Given the description of an element on the screen output the (x, y) to click on. 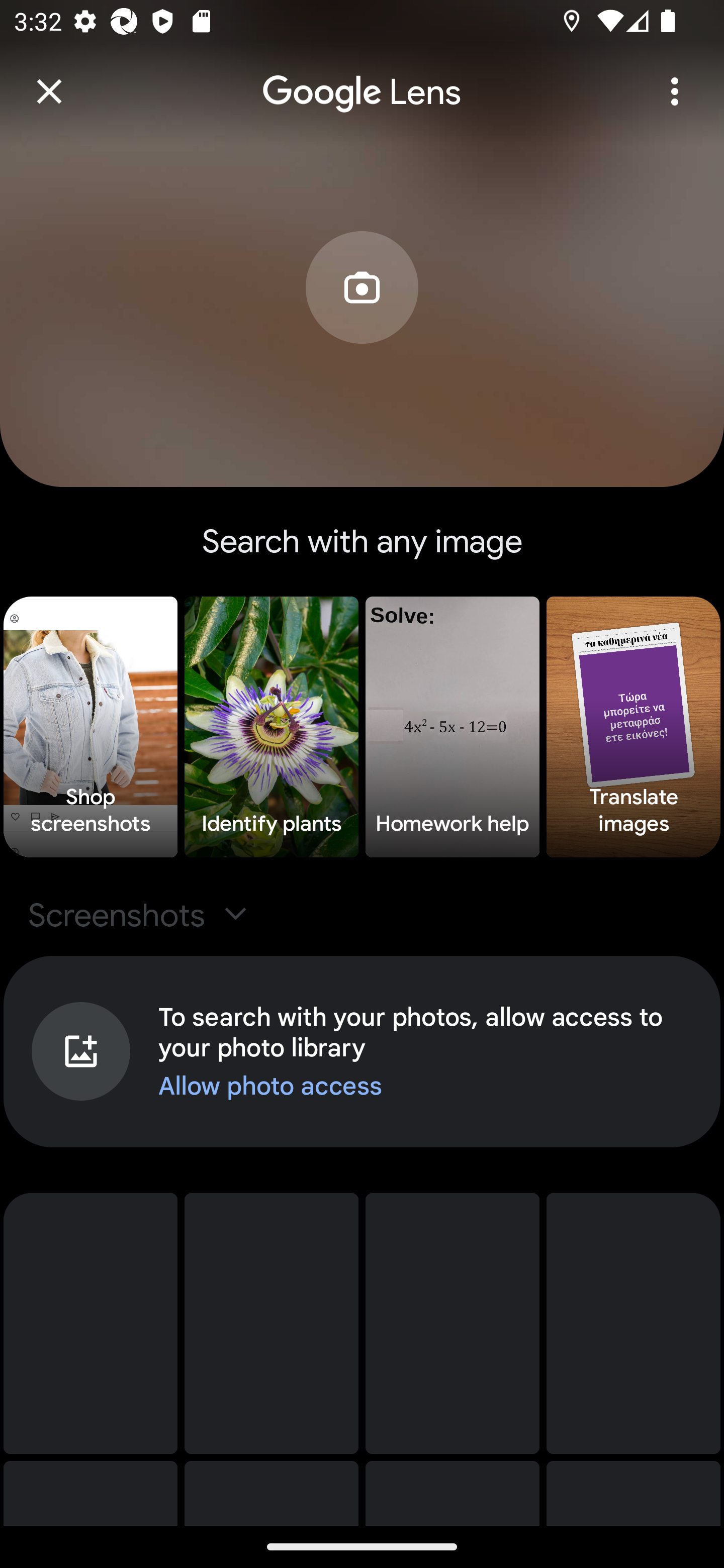
Google Lens Lens (361, 78)
Close (48, 91)
More options (674, 91)
Search with your camera (362, 317)
Shop screenshots (90, 726)
Identify plants (271, 726)
Homework help (452, 726)
Translate images (633, 726)
